Given the description of an element on the screen output the (x, y) to click on. 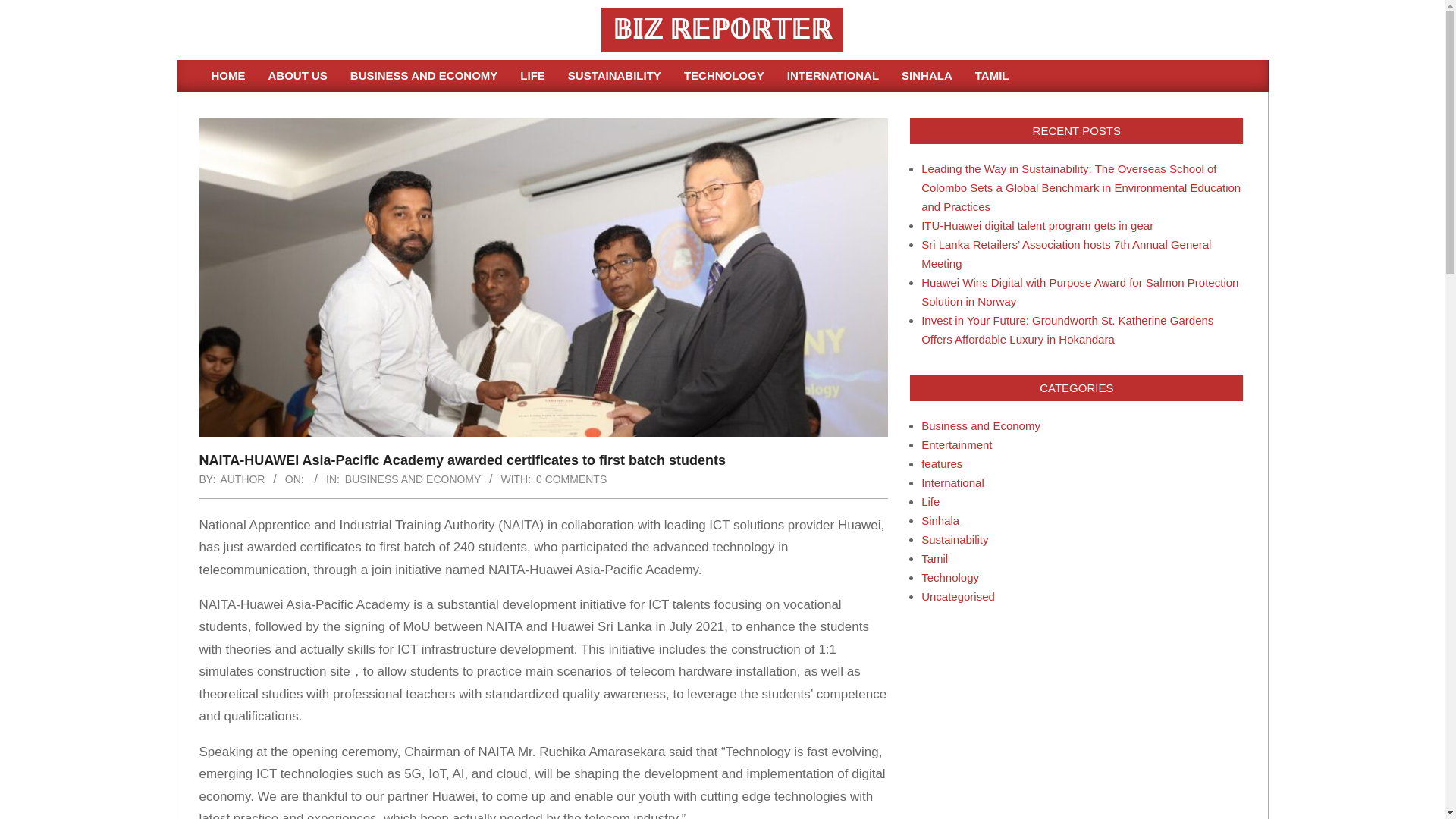
HOME (228, 75)
TECHNOLOGY (724, 75)
Life (930, 501)
TAMIL (991, 75)
AUTHOR (241, 479)
Sustainability (954, 539)
Posts by Author (241, 479)
ITU-Huawei digital talent program gets in gear (1037, 225)
BUSINESS AND ECONOMY (412, 479)
Business and Economy (981, 425)
SUSTAINABILITY (614, 75)
Technology (949, 576)
SINHALA (926, 75)
Entertainment (956, 444)
